Given the description of an element on the screen output the (x, y) to click on. 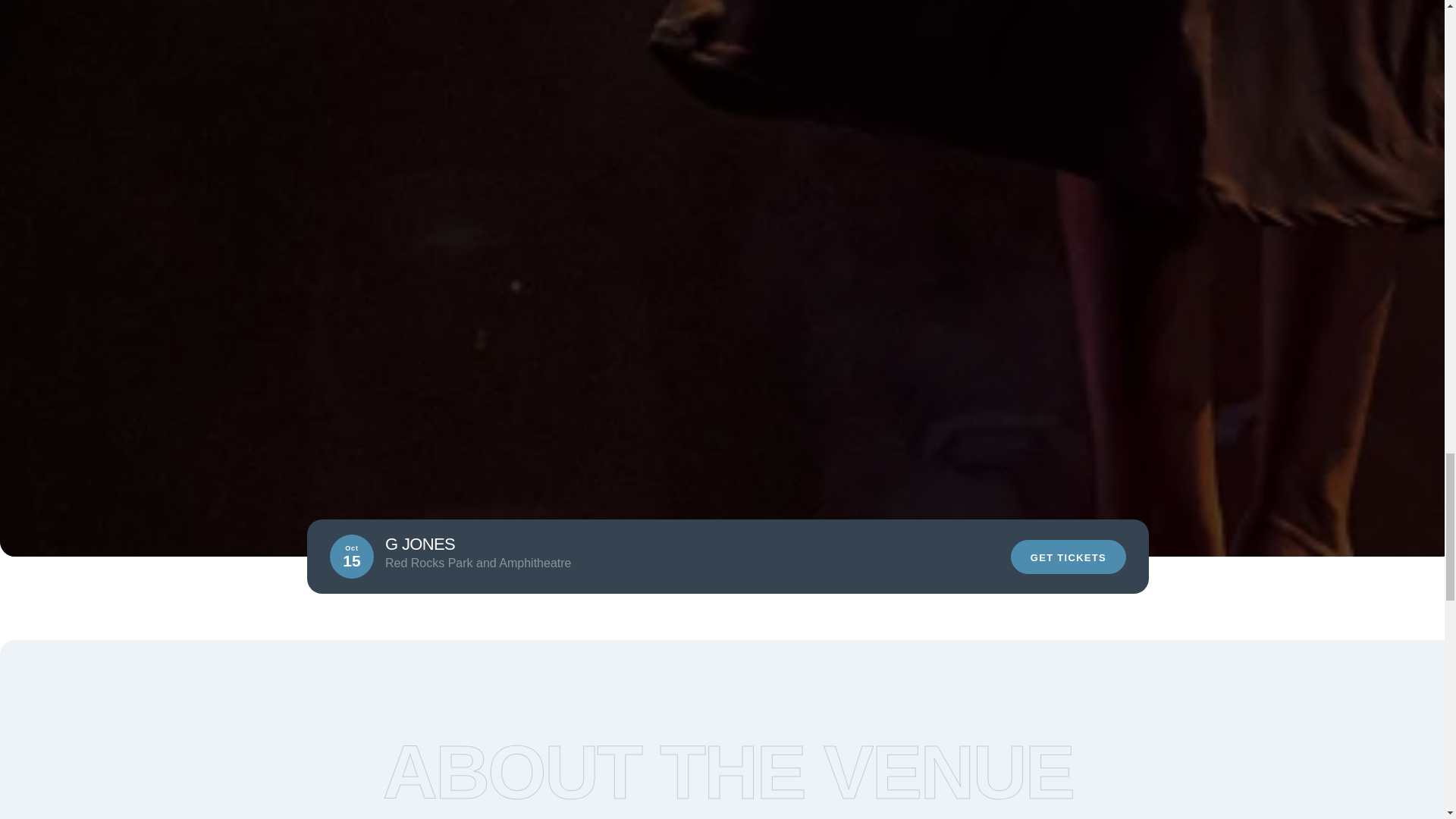
Archive (490, 557)
Red Rocks Amphitheatre (382, 557)
October (602, 557)
GET TICKETS (1067, 556)
2023 (546, 557)
venue map (905, 807)
G Jones at Red Rocks Amphitheater tickets (727, 5)
